Given the description of an element on the screen output the (x, y) to click on. 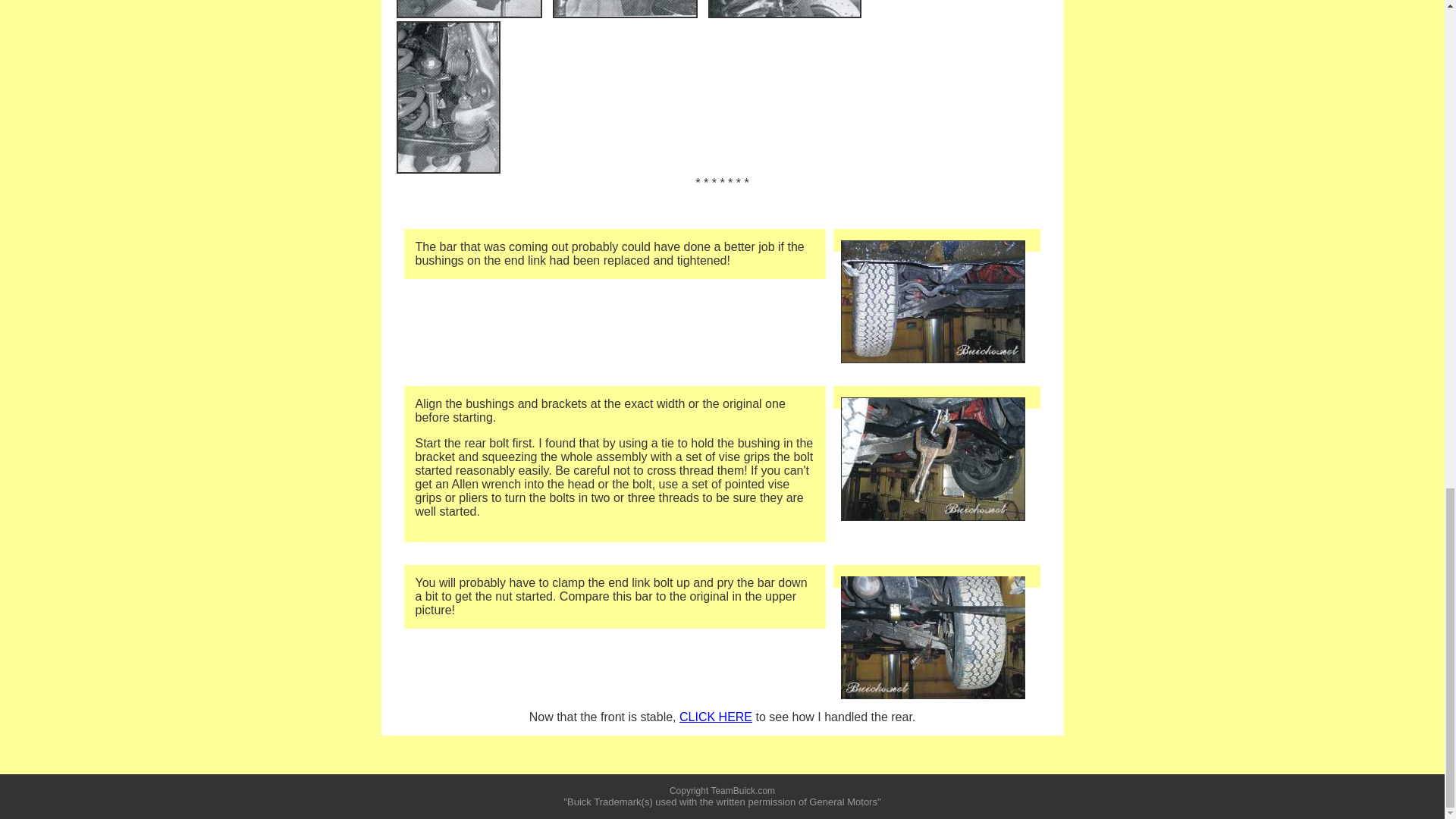
CLICK HERE (715, 716)
